Given the description of an element on the screen output the (x, y) to click on. 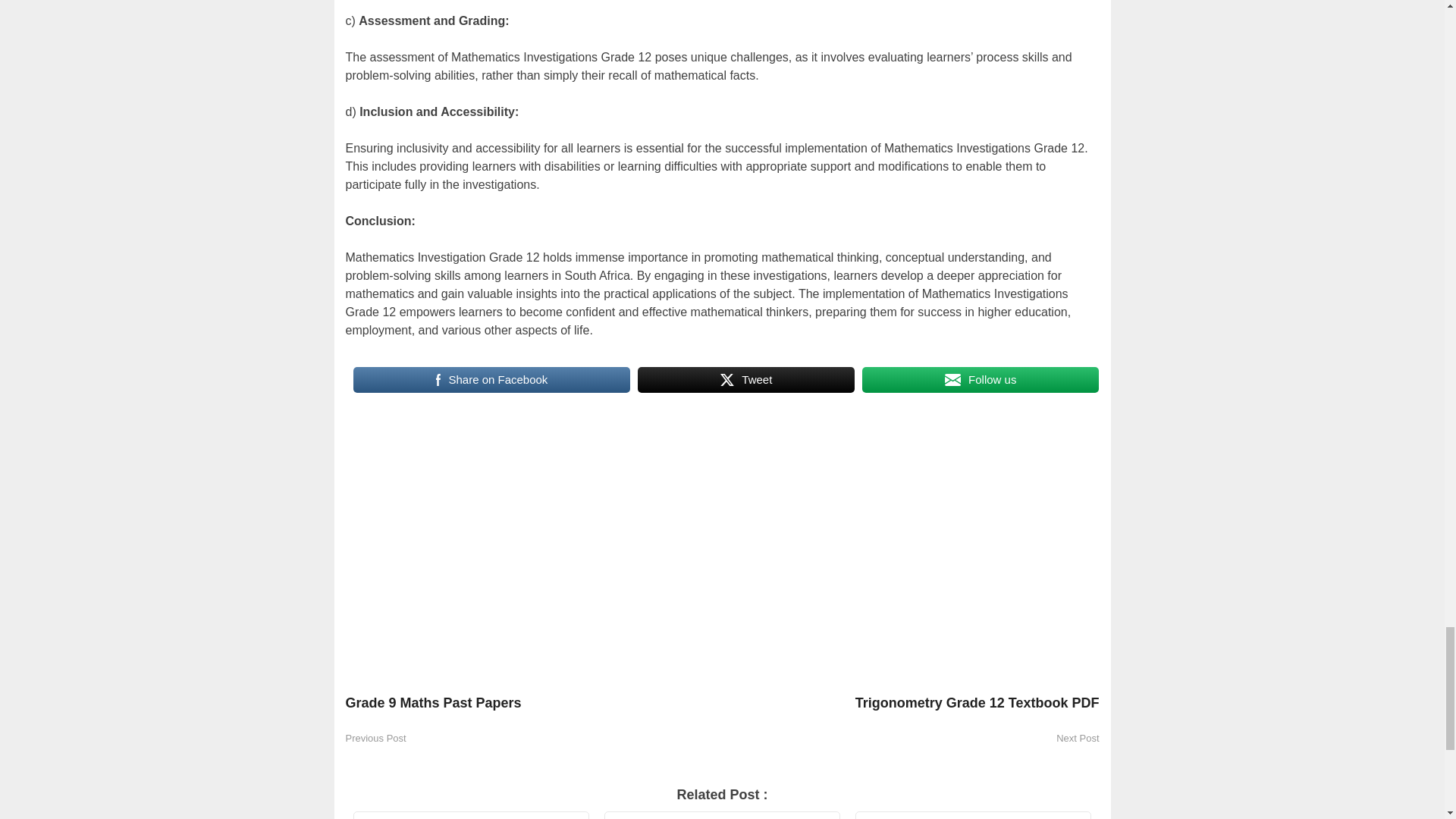
Tweet (745, 379)
Follow us (980, 379)
Share on Facebook (491, 379)
Trigonometry Grade 12 Textbook PDF (910, 710)
Grade 9 Maths Past Papers (534, 710)
